Given the description of an element on the screen output the (x, y) to click on. 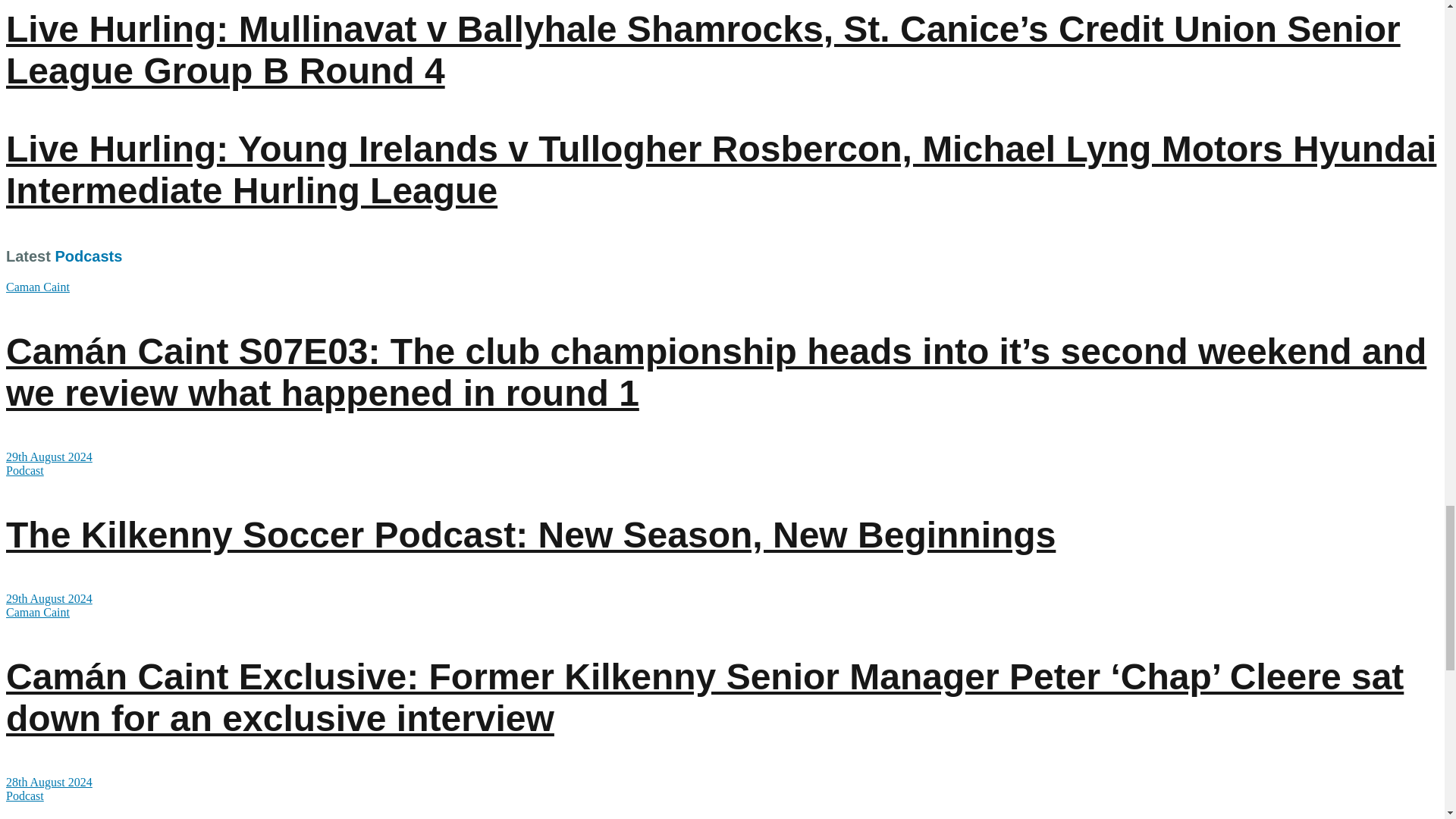
Podcast (24, 470)
The Kilkenny Soccer Podcast: New Season, New Beginnings (530, 535)
29th August 2024 (49, 456)
Caman Caint (37, 286)
29th August 2024 (49, 598)
